Given the description of an element on the screen output the (x, y) to click on. 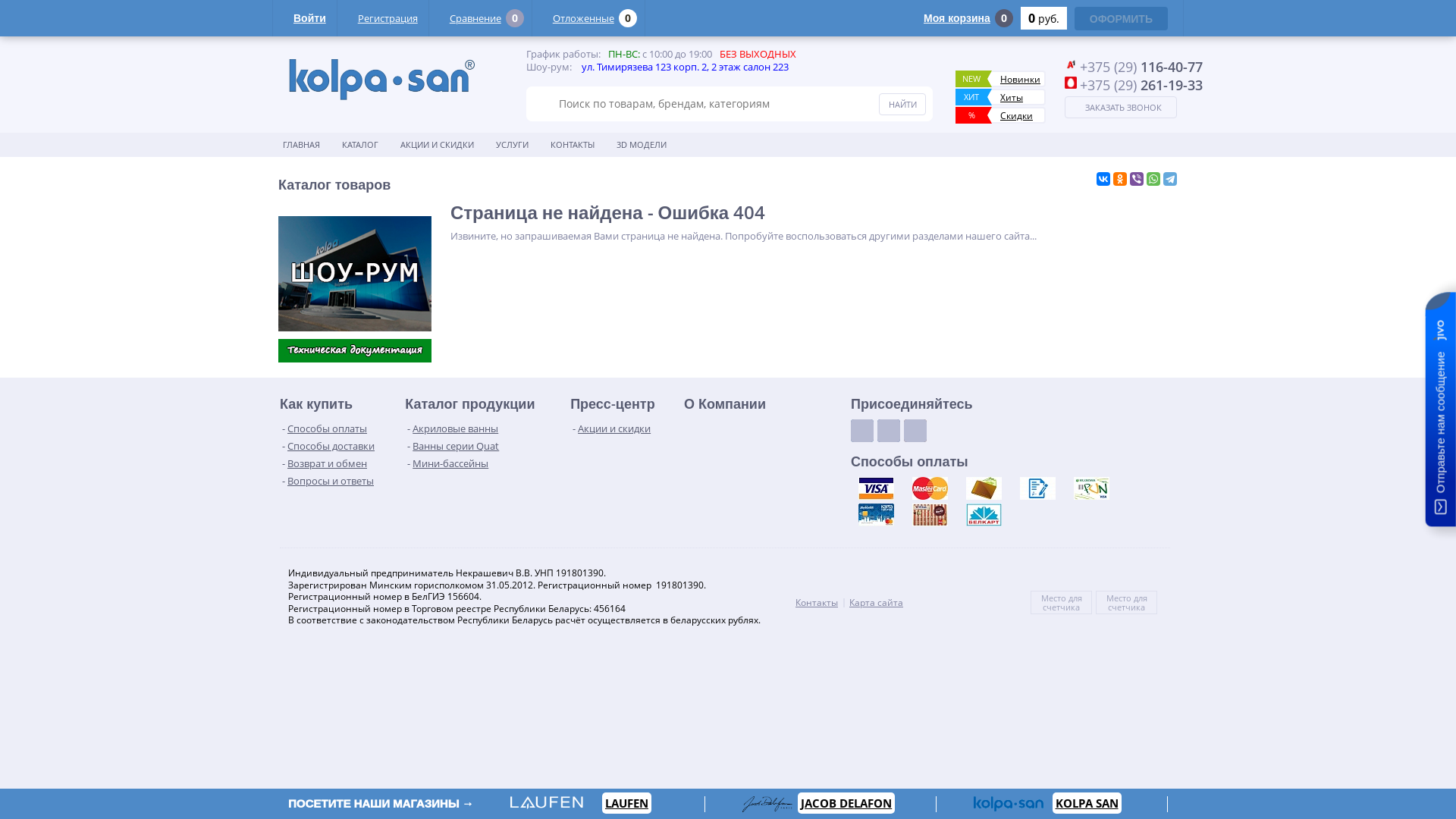
Viber Element type: hover (1136, 178)
VISA Element type: hover (875, 487)
MasterCard Element type: hover (929, 487)
Instagram Element type: hover (914, 430)
WhatsApp Element type: hover (1153, 178)
KOLPA SAN Element type: text (1086, 802)
Vkontakte Element type: hover (861, 430)
JACOB DELAFON Element type: text (845, 802)
Facebook Element type: hover (888, 430)
LAUFEN Element type: text (626, 802)
Telegram Element type: hover (1169, 178)
kolpa-san_logo.png Element type: hover (381, 78)
